Given the description of an element on the screen output the (x, y) to click on. 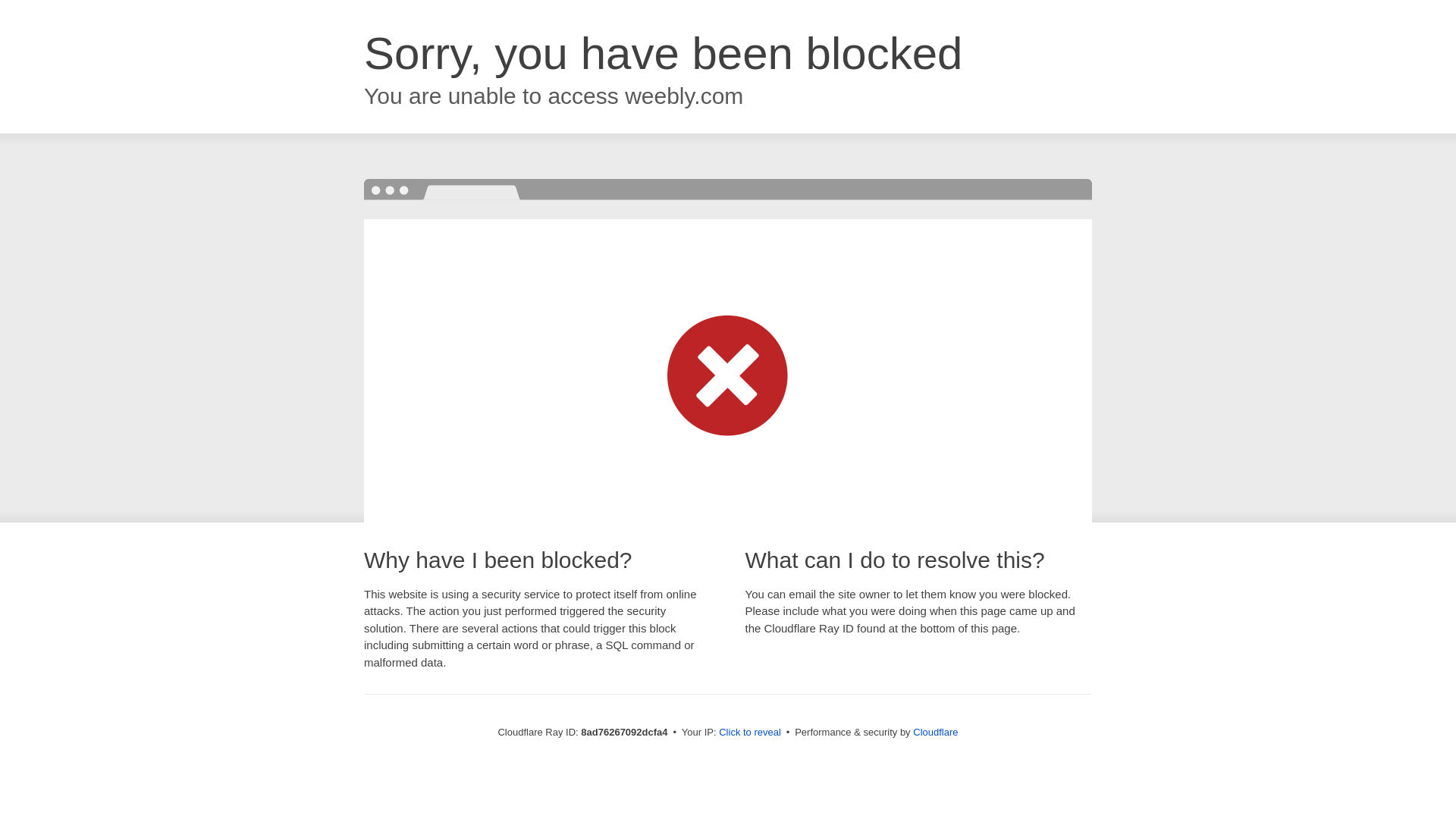
Click to reveal (749, 732)
Cloudflare (935, 731)
